Given the description of an element on the screen output the (x, y) to click on. 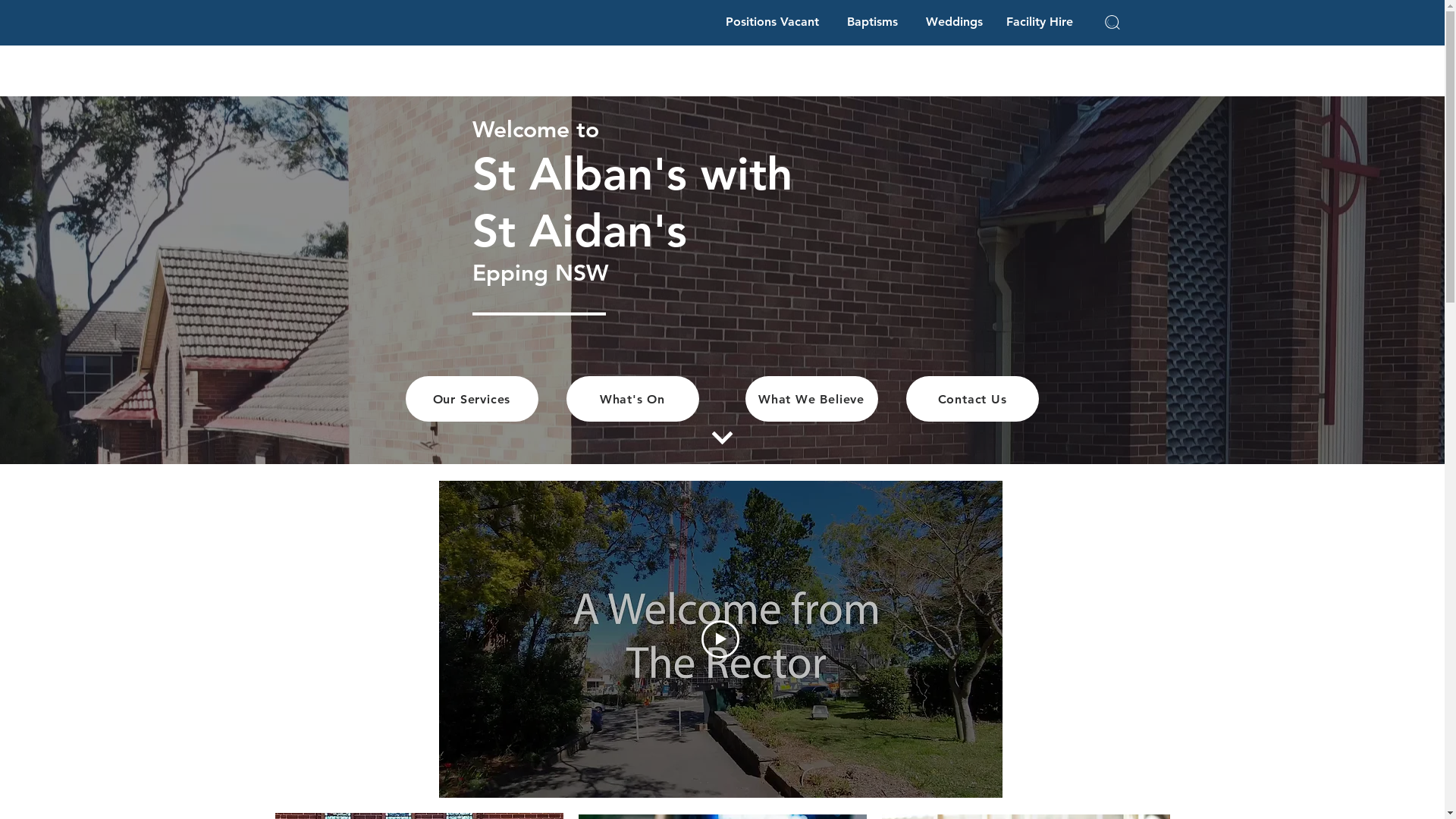
Contact Us Element type: text (971, 398)
Positions Vacant Element type: text (771, 21)
What We Believe Element type: text (810, 398)
Baptisms Element type: text (871, 21)
Weddings Element type: text (953, 21)
Facility Hire Element type: text (1038, 21)
Our Services Element type: text (470, 398)
What's On Element type: text (631, 398)
